Given the description of an element on the screen output the (x, y) to click on. 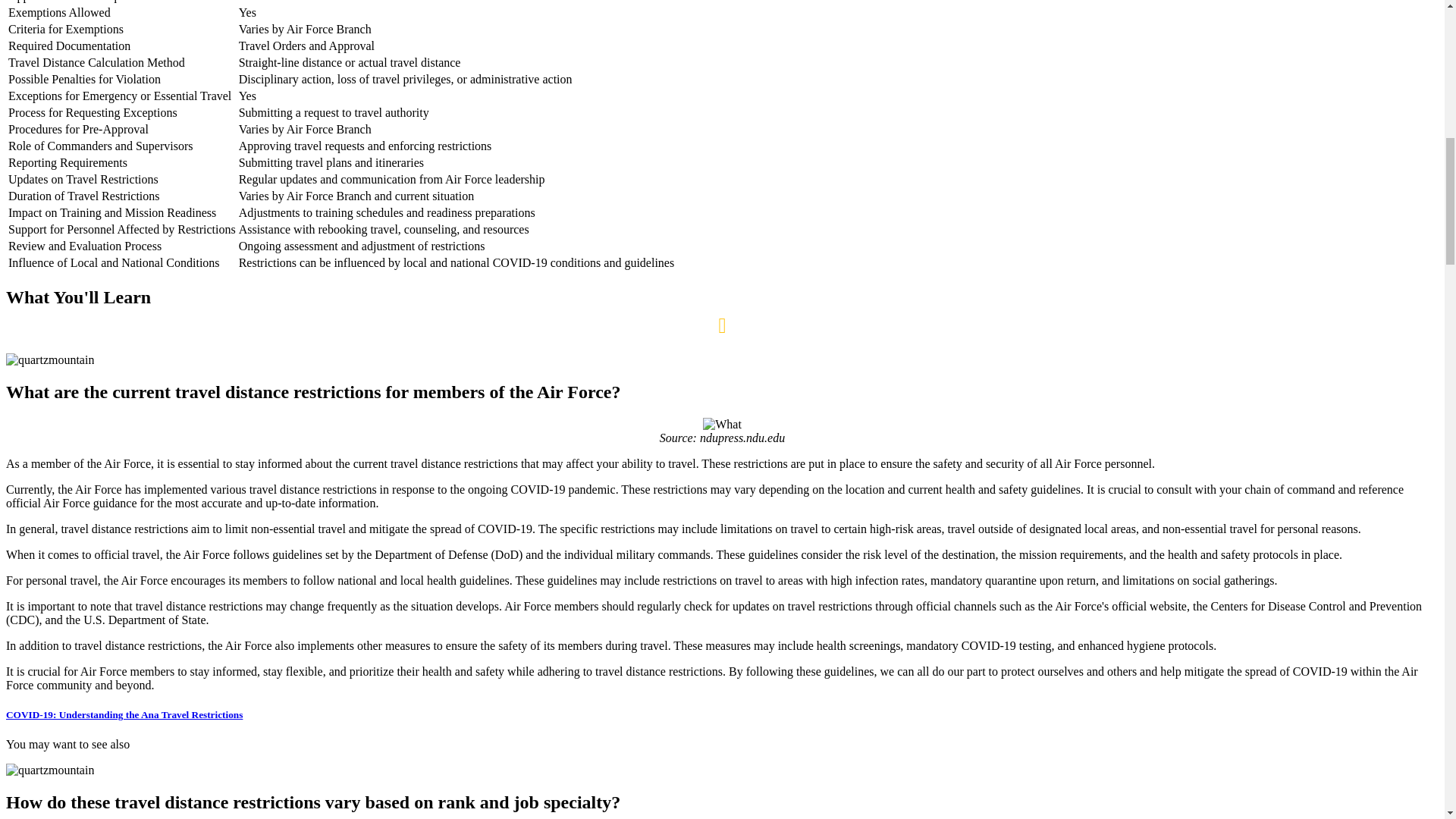
COVID-19: Understanding the Ana Travel Restrictions (124, 714)
